Given the description of an element on the screen output the (x, y) to click on. 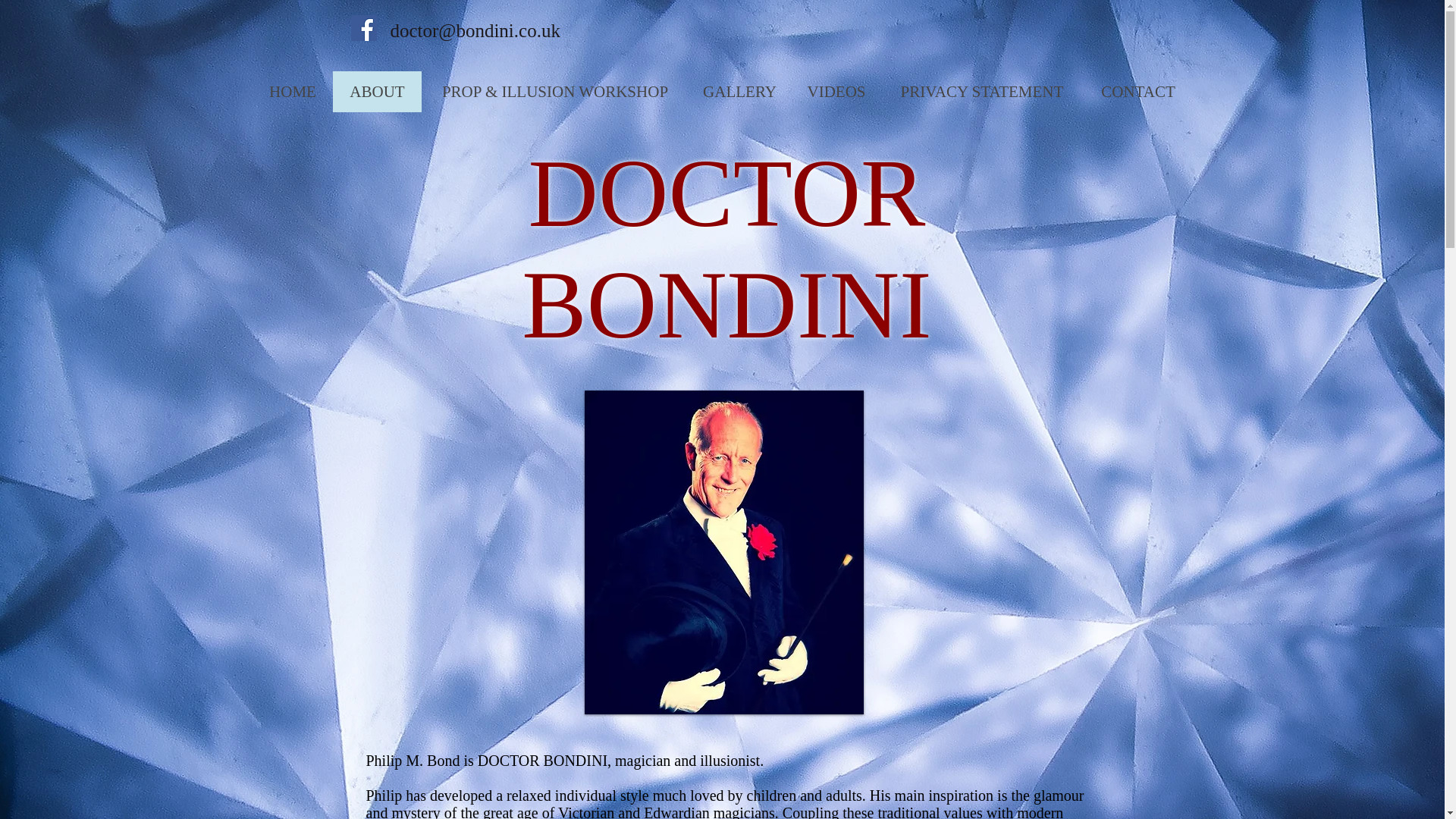
ABOUT (375, 91)
CONTACT (1137, 91)
HOME (293, 91)
PRIVACY STATEMENT (980, 91)
VIDEOS (835, 91)
GALLERY (739, 91)
